Given the description of an element on the screen output the (x, y) to click on. 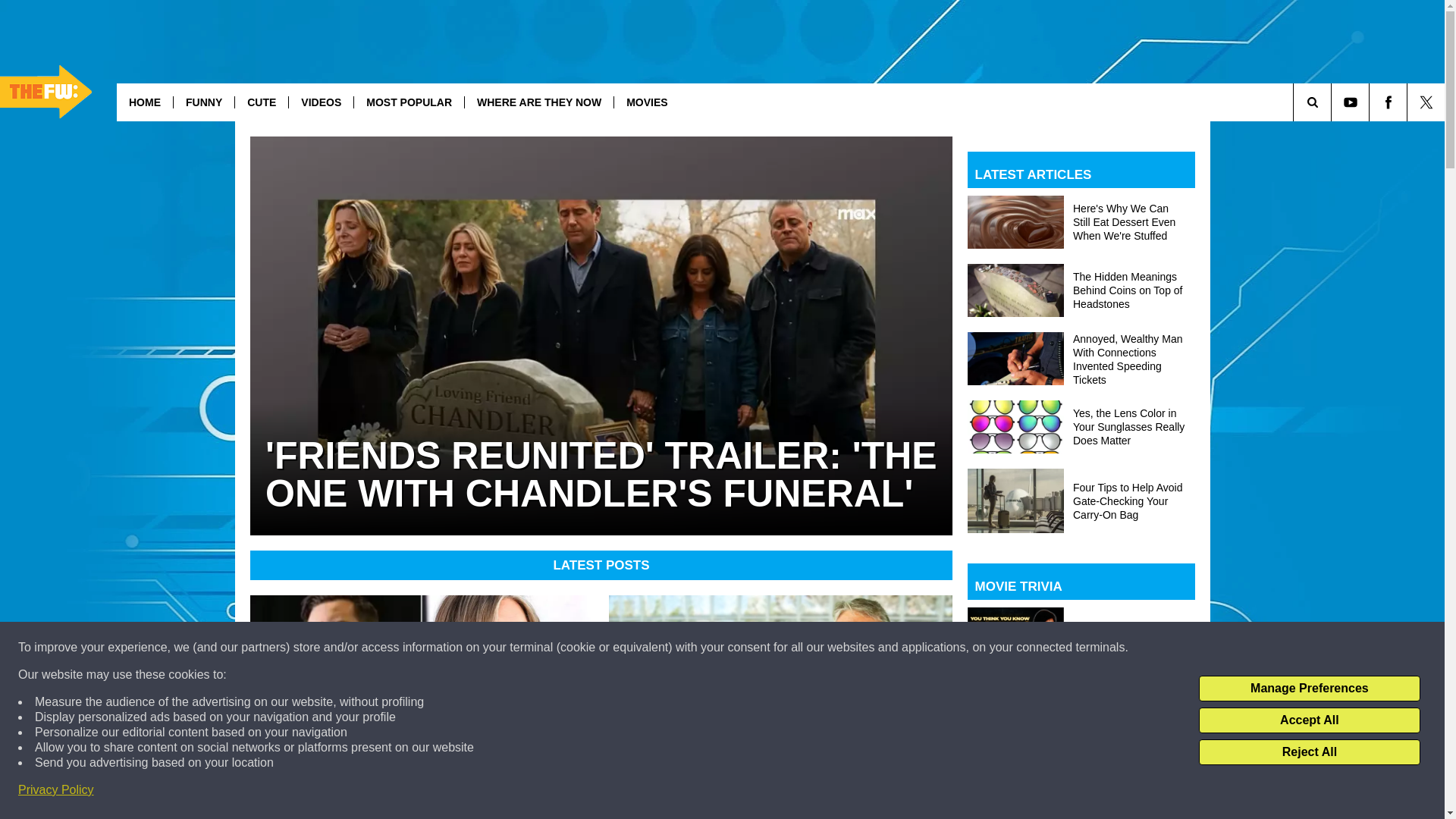
Visit us on Youtube (1350, 102)
MOST POPULAR (408, 102)
Accept All (1309, 720)
SEARCH (1333, 102)
HOME (144, 102)
MOVIES (645, 102)
SEARCH (1333, 102)
Reject All (1309, 751)
CUTE (261, 102)
FUNNY (203, 102)
VIDEOS (320, 102)
SEARCH (1333, 102)
WHERE ARE THEY NOW (538, 102)
